Given the description of an element on the screen output the (x, y) to click on. 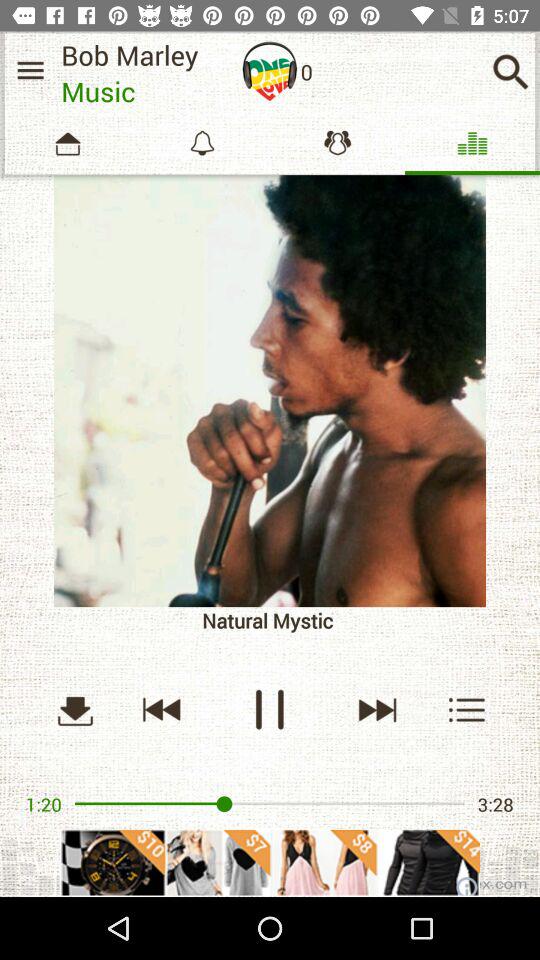
put on headphones (269, 71)
